Given the description of an element on the screen output the (x, y) to click on. 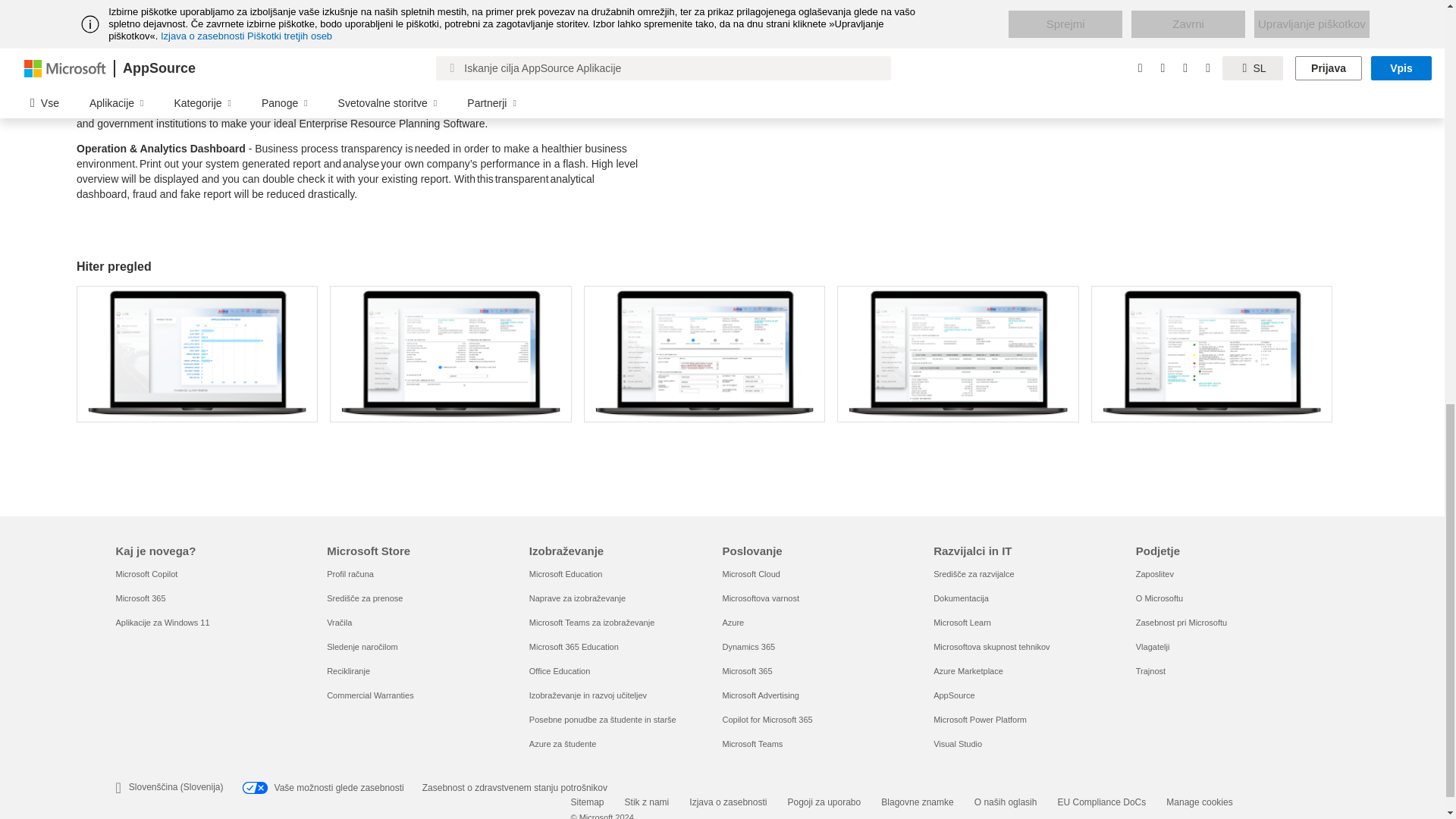
Microsoft Education (565, 573)
Commercial Warranties (369, 695)
Microsoft 365 (140, 597)
Aplikacije za Windows 11 (162, 622)
Recikliranje (347, 670)
Microsoft Copilot (146, 573)
